Given the description of an element on the screen output the (x, y) to click on. 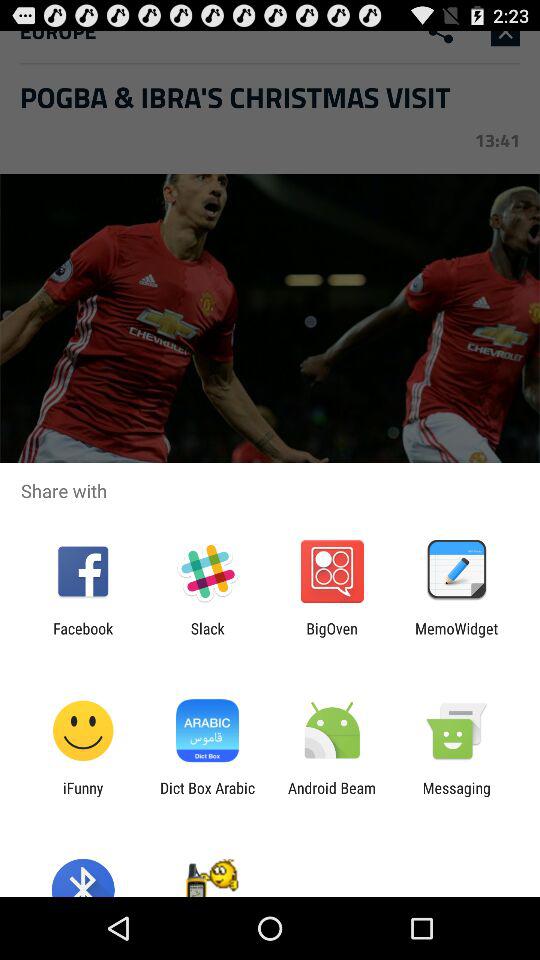
choose item next to the bigoven icon (456, 637)
